Given the description of an element on the screen output the (x, y) to click on. 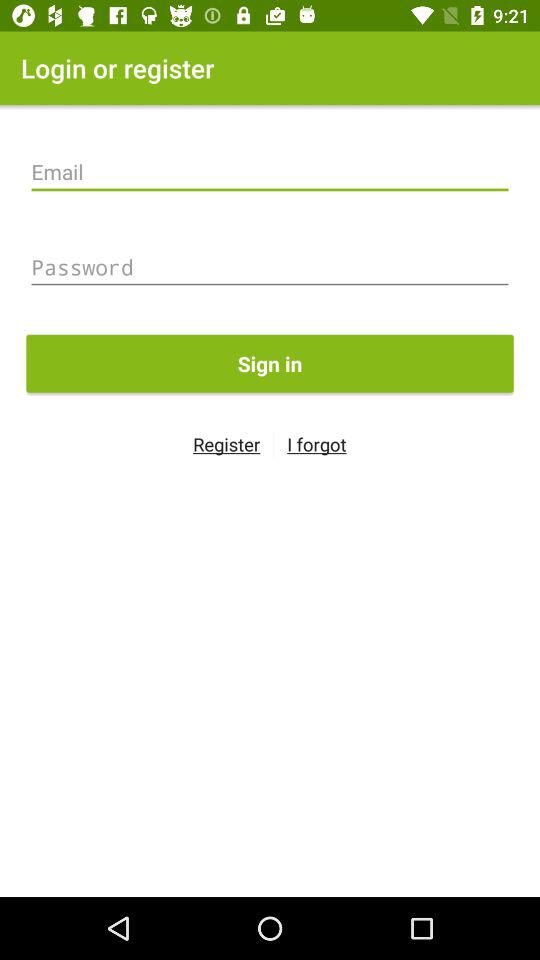
email login text box (269, 172)
